Given the description of an element on the screen output the (x, y) to click on. 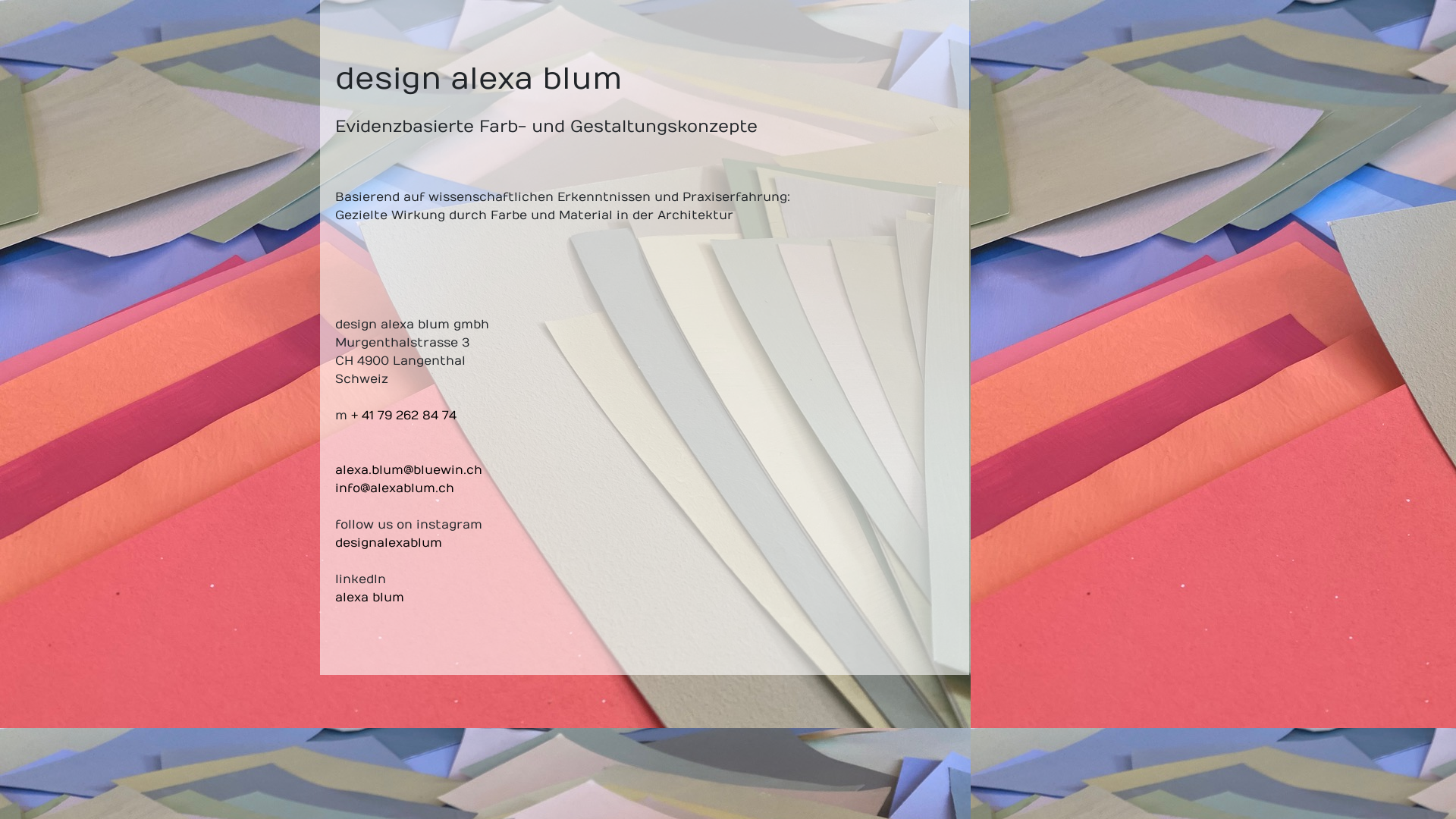
designalexablum Element type: text (388, 542)
alexa.blum@bluewin.ch Element type: text (408, 469)
alexa blum Element type: text (369, 597)
info@alexablum.ch Element type: text (394, 488)
+ 41 79 262 84 74 Element type: text (403, 415)
